Given the description of an element on the screen output the (x, y) to click on. 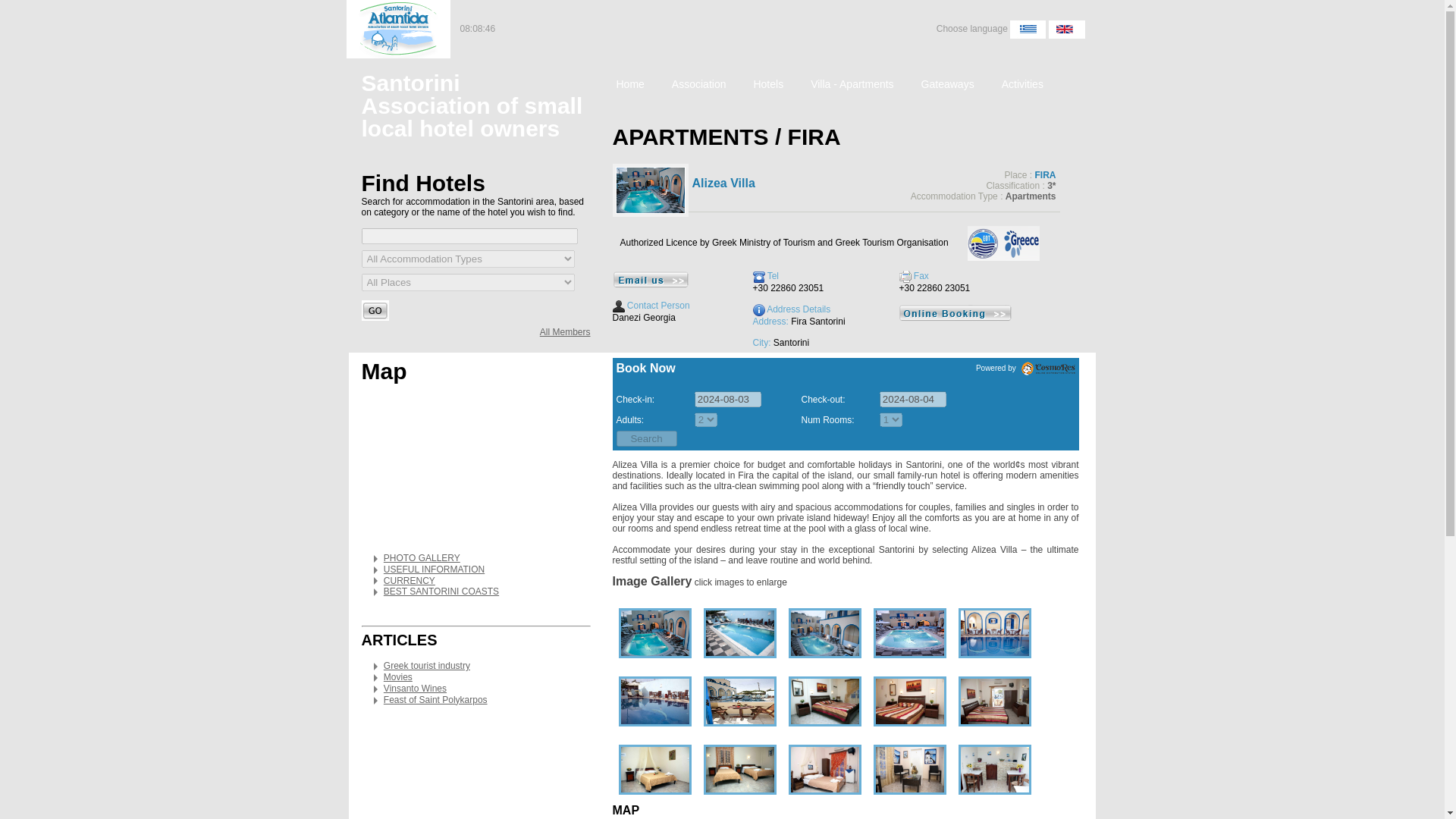
BEST SANTORINI COASTS (441, 591)
USEFUL INFORMATION (434, 569)
Gateaways (947, 85)
Association (698, 85)
Villa - Apartments (852, 85)
Search (646, 438)
PHOTO GALLERY (422, 557)
Vinsanto Wines (415, 688)
Greek tourist industry (427, 665)
Feast of Saint Polykarpos (435, 699)
Home (629, 85)
2024-08-04 (912, 399)
All Members (565, 331)
CURRENCY (409, 580)
Activities (1022, 85)
